Given the description of an element on the screen output the (x, y) to click on. 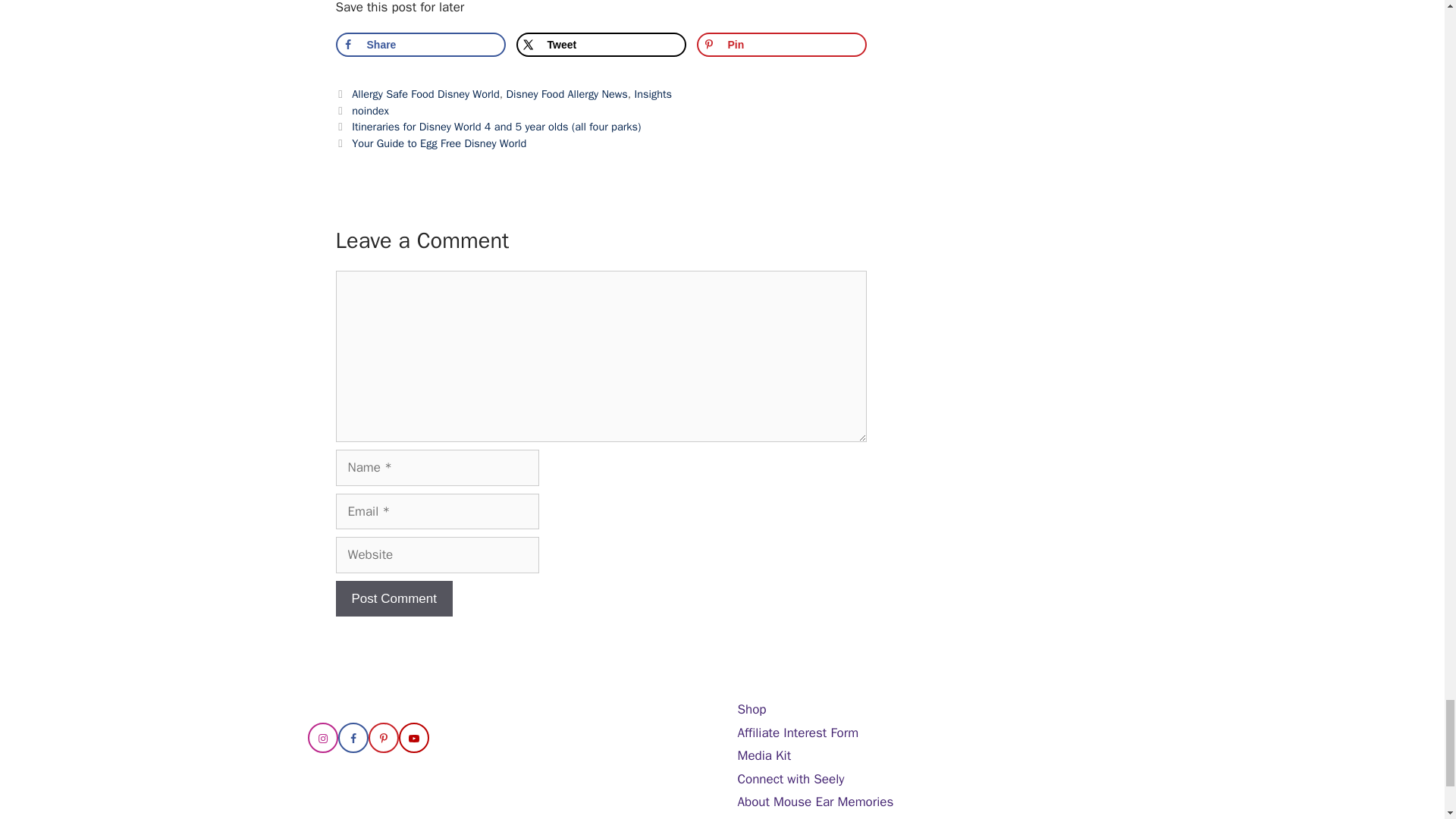
noindex (370, 110)
Share (419, 44)
Post Comment (392, 598)
Tweet (600, 44)
Disney Food Allergy News (566, 93)
Share on Facebook (419, 44)
Share on X (600, 44)
Save to Pinterest (780, 44)
Insights (652, 93)
Pin (780, 44)
Allergy Safe Food Disney World (425, 93)
